Given the description of an element on the screen output the (x, y) to click on. 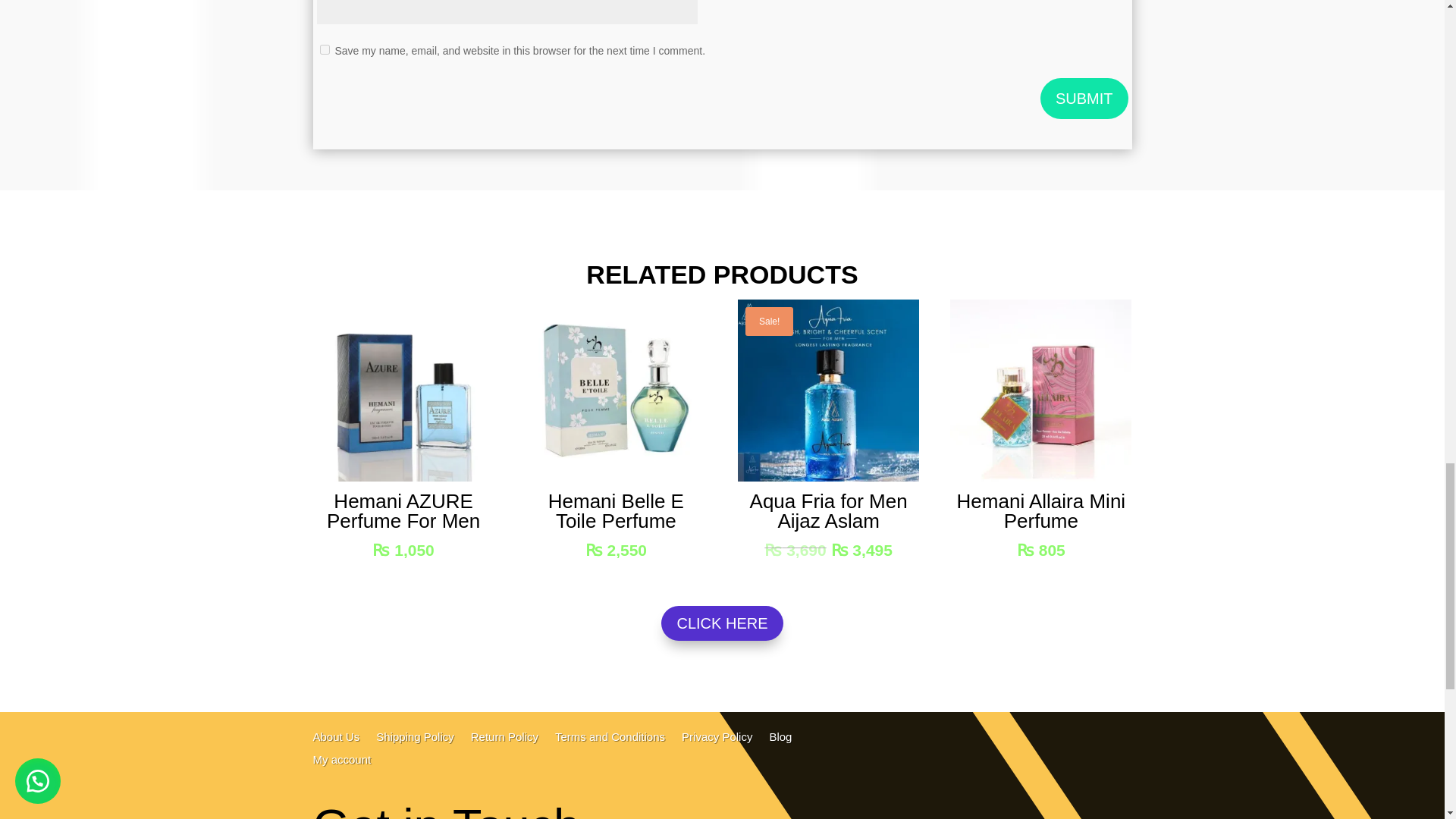
yes (325, 49)
